Given the description of an element on the screen output the (x, y) to click on. 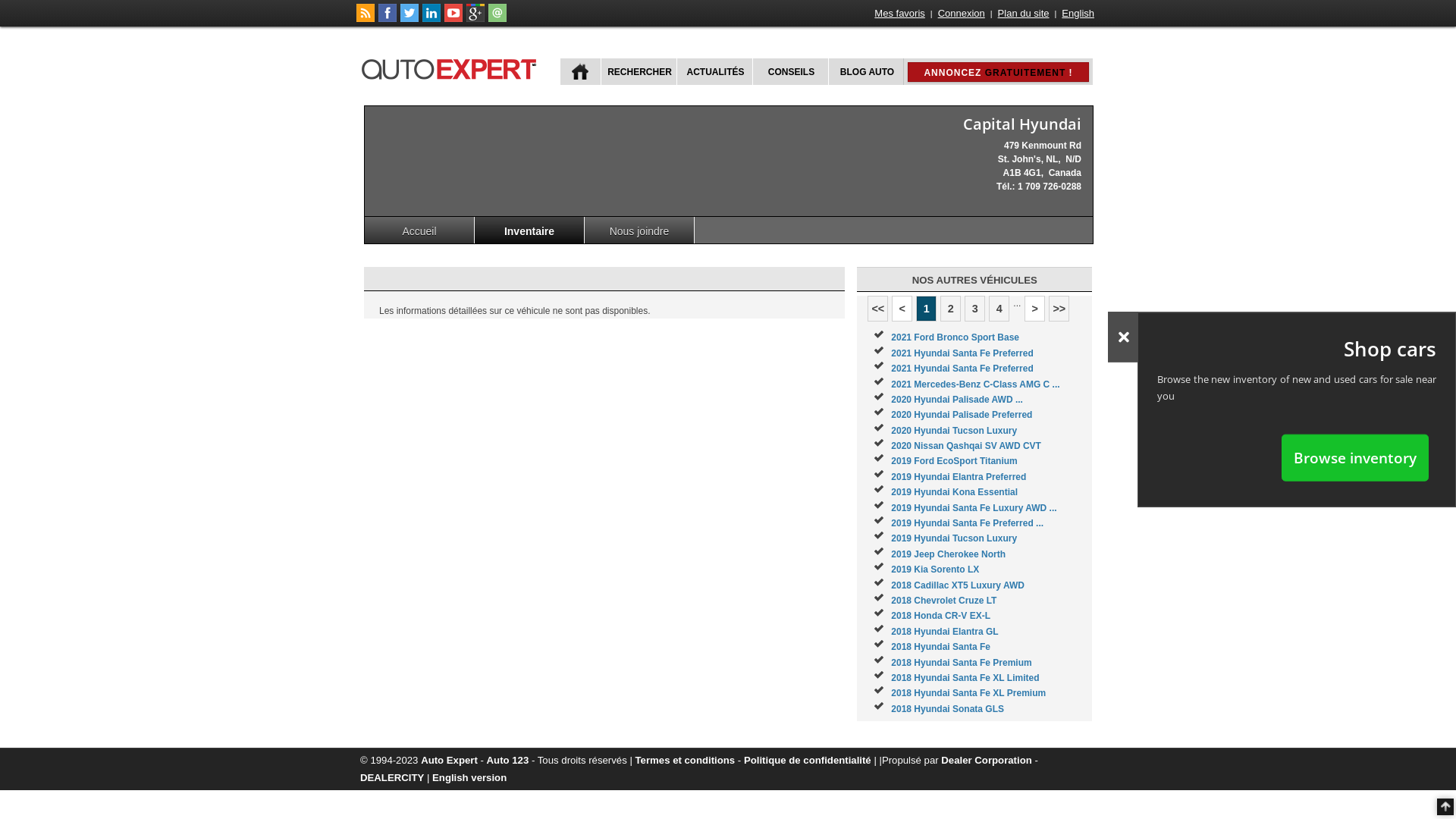
2021 Hyundai Santa Fe Preferred Element type: text (961, 368)
Inventaire Element type: text (529, 229)
2020 Hyundai Palisade AWD ... Element type: text (956, 399)
Suivez autoExpert.ca sur Google Plus Element type: hover (475, 18)
ACCUEIL Element type: text (580, 71)
> Element type: text (1034, 308)
Auto 123 Element type: text (507, 759)
2018 Honda CR-V EX-L Element type: text (940, 615)
2019 Hyundai Tucson Luxury Element type: text (953, 538)
Connexion Element type: text (961, 13)
Suivez Publications Le Guide Inc. sur LinkedIn Element type: hover (431, 18)
2018 Hyundai Elantra GL Element type: text (944, 631)
<< Element type: text (877, 308)
DEALERCITY Element type: text (391, 777)
BLOG AUTO Element type: text (865, 71)
2 Element type: text (950, 308)
Suivez autoExpert.ca sur Twitter Element type: hover (409, 18)
2020 Hyundai Tucson Luxury Element type: text (953, 430)
Dealer Corporation Element type: text (986, 759)
2021 Hyundai Santa Fe Preferred Element type: text (961, 353)
RECHERCHER Element type: text (637, 71)
2020 Hyundai Palisade Preferred Element type: text (961, 414)
autoExpert.ca Element type: text (451, 66)
2018 Hyundai Santa Fe XL Premium Element type: text (968, 692)
2021 Ford Bronco Sport Base Element type: text (955, 337)
4 Element type: text (998, 308)
2019 Hyundai Kona Essential Element type: text (954, 491)
Browse inventory Element type: text (1354, 457)
2019 Hyundai Santa Fe Preferred ... Element type: text (967, 522)
English version Element type: text (469, 777)
2018 Hyundai Sonata GLS Element type: text (947, 708)
Accueil Element type: text (419, 229)
2021 Mercedes-Benz C-Class AMG C ... Element type: text (975, 384)
1 Element type: text (926, 308)
< Element type: text (901, 308)
3 Element type: text (974, 308)
2018 Hyundai Santa Fe Premium Element type: text (961, 662)
Nous joindre Element type: text (639, 229)
2018 Hyundai Santa Fe Element type: text (940, 646)
2019 Kia Sorento LX Element type: text (935, 569)
ANNONCEZ GRATUITEMENT ! Element type: text (997, 71)
2018 Chevrolet Cruze LT Element type: text (943, 600)
Plan du site Element type: text (1023, 13)
2019 Hyundai Elantra Preferred Element type: text (958, 476)
Auto Expert Element type: text (448, 759)
2019 Hyundai Santa Fe Luxury AWD ... Element type: text (973, 507)
Mes favoris Element type: text (898, 13)
CONSEILS Element type: text (789, 71)
2019 Jeep Cherokee North Element type: text (948, 554)
2018 Cadillac XT5 Luxury AWD Element type: text (957, 585)
2020 Nissan Qashqai SV AWD CVT Element type: text (966, 445)
Termes et conditions Element type: text (685, 759)
English Element type: text (1077, 13)
Suivez autoExpert.ca sur Youtube Element type: hover (453, 18)
Suivez autoExpert.ca sur Facebook Element type: hover (387, 18)
>> Element type: text (1058, 308)
2018 Hyundai Santa Fe XL Limited Element type: text (964, 677)
2019 Ford EcoSport Titanium Element type: text (953, 460)
Joindre autoExpert.ca Element type: hover (497, 18)
